Given the description of an element on the screen output the (x, y) to click on. 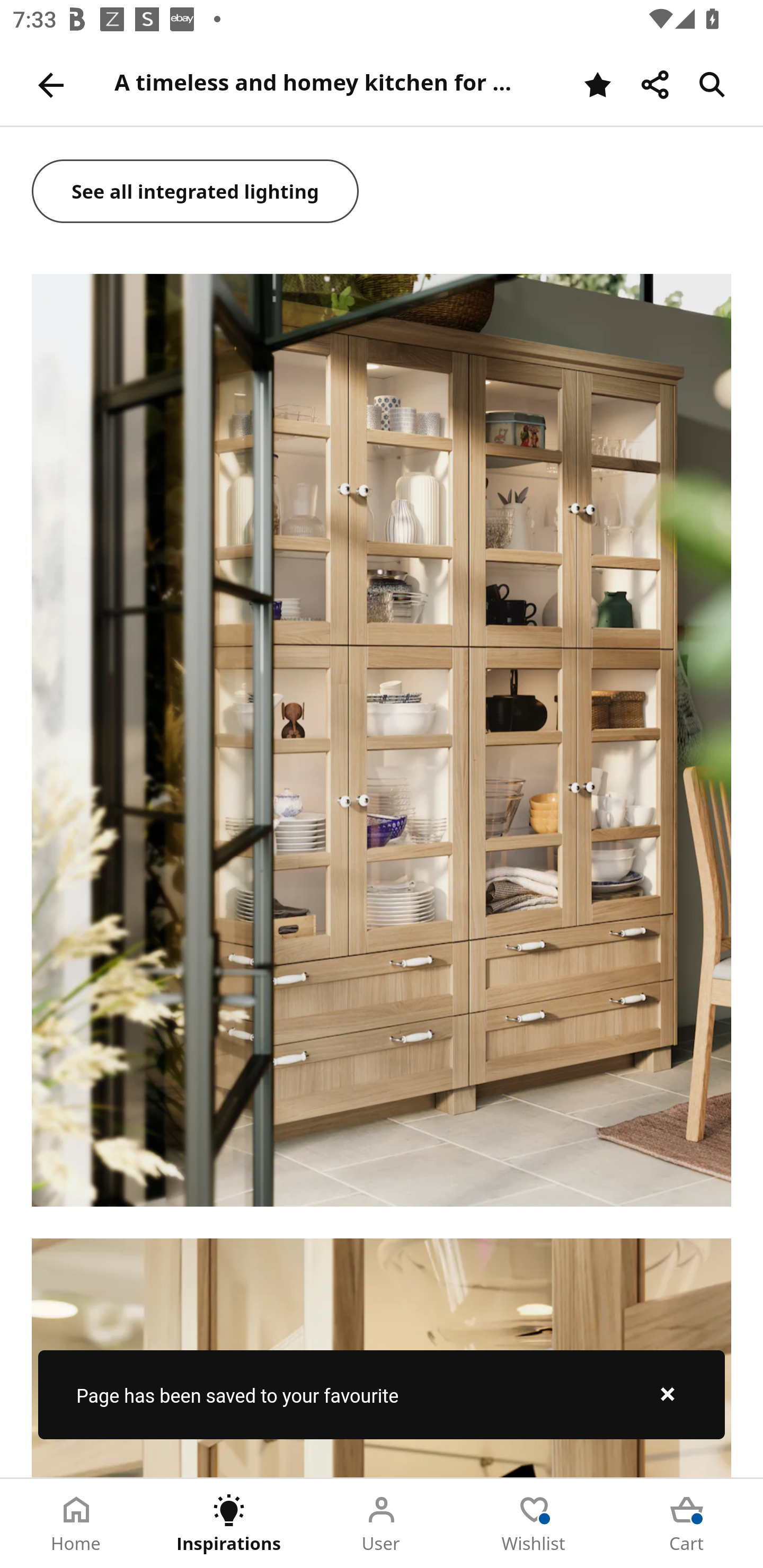
See all integrated lighting (195, 192)
Page has been saved to your favourite (381, 1394)
Home
Tab 1 of 5 (76, 1522)
Inspirations
Tab 2 of 5 (228, 1522)
User
Tab 3 of 5 (381, 1522)
Wishlist
Tab 4 of 5 (533, 1522)
Cart
Tab 5 of 5 (686, 1522)
